Given the description of an element on the screen output the (x, y) to click on. 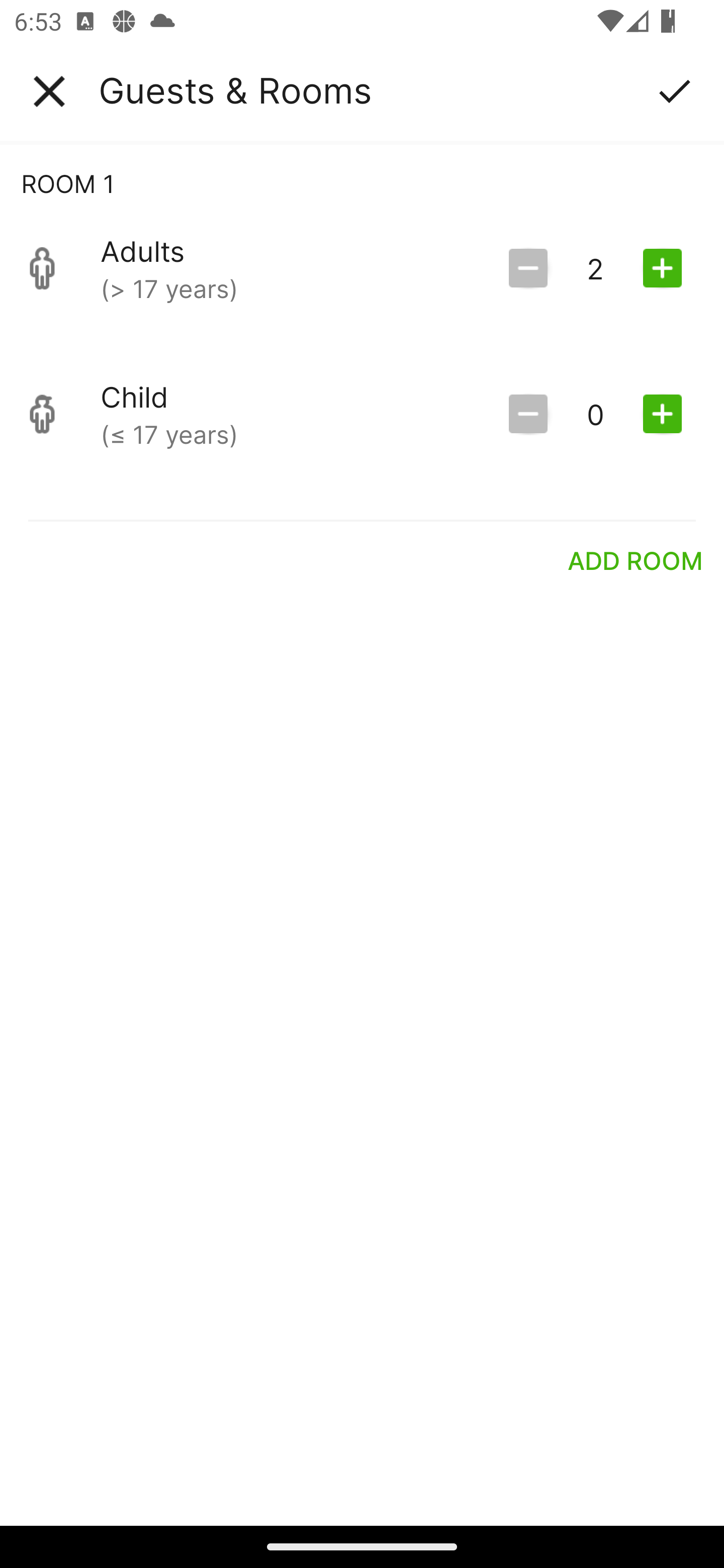
ADD ROOM (635, 560)
